Given the description of an element on the screen output the (x, y) to click on. 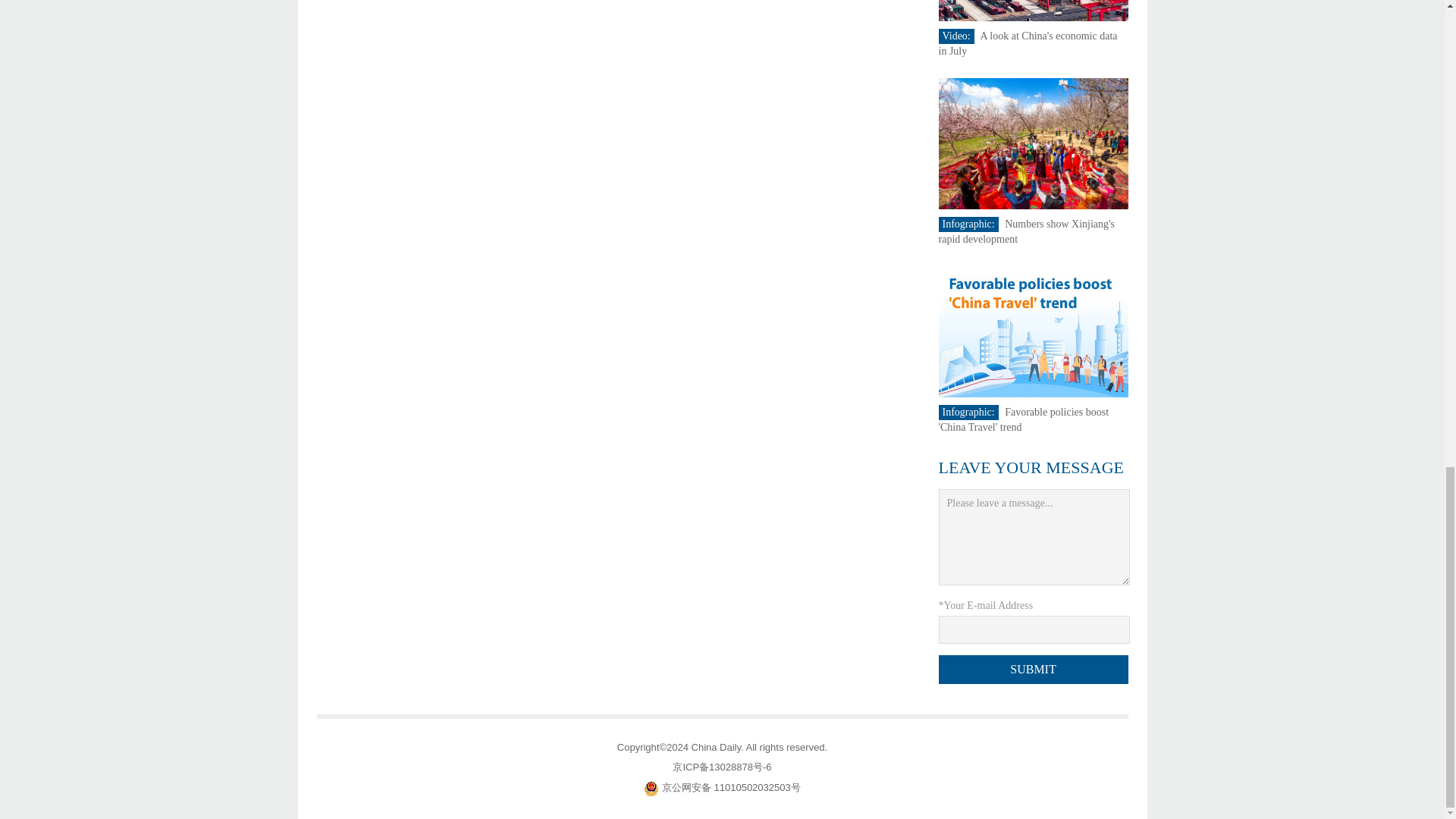
Submit (1033, 669)
A look at China's economic data in July (1028, 43)
LEAVE YOUR MESSAGE (1031, 466)
Favorable policies boost 'China Travel' trend (1024, 419)
Submit (1033, 669)
Numbers show Xinjiang's rapid development (1027, 231)
